Given the description of an element on the screen output the (x, y) to click on. 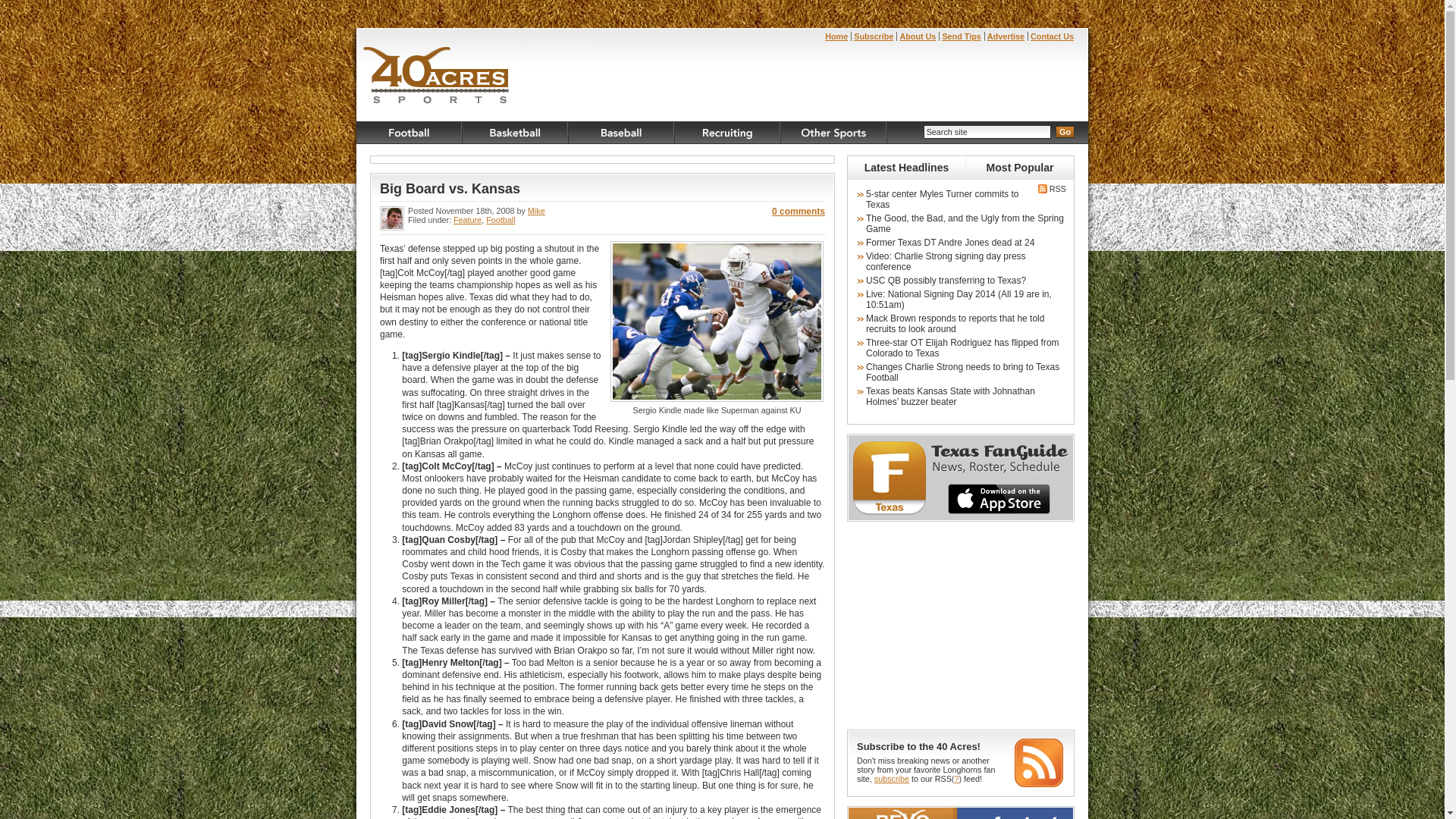
subscribe Element type: text (891, 778)
Changes Charlie Strong needs to bring to Texas Football Element type: text (962, 371)
Click to search archives Element type: hover (1064, 131)
Latest Headlines Element type: text (906, 167)
Contact Us Element type: text (1051, 35)
? Element type: text (955, 778)
40 Acres Sports Element type: text (436, 77)
Big Board vs. Kansas Element type: text (449, 188)
Football Element type: text (409, 132)
Football Element type: text (500, 219)
Send Tips Element type: text (960, 35)
0 comments Element type: text (798, 211)
The Good, the Bad, and the Ugly from the Spring Game Element type: text (964, 223)
Home Element type: text (836, 35)
Video: Charlie Strong signing day press conference Element type: text (946, 261)
Mike Element type: text (536, 210)
Sergio Kindle made like Superman against KU Element type: hover (716, 321)
Advertise Element type: text (1005, 35)
Go Element type: text (1064, 131)
About Us Element type: text (917, 35)
Most Popular Element type: text (1019, 167)
USC QB possibly transferring to Texas? Element type: text (946, 280)
Subscribe to the 40 Acres! Element type: text (918, 746)
Subscribe Element type: text (873, 35)
Basketball Element type: text (515, 132)
Recruiting Element type: text (727, 132)
Live: National Signing Day 2014 (All 19 are in, 10:51am) Element type: text (958, 299)
Baseball Element type: text (621, 132)
Former Texas DT Andre Jones dead at 24 Element type: text (950, 242)
RSS Element type: text (1051, 188)
Feature Element type: text (467, 219)
5-star center Myles Turner commits to Texas Element type: text (942, 199)
Other Sports Element type: text (834, 132)
Enter keyword to search Element type: hover (987, 131)
